Given the description of an element on the screen output the (x, y) to click on. 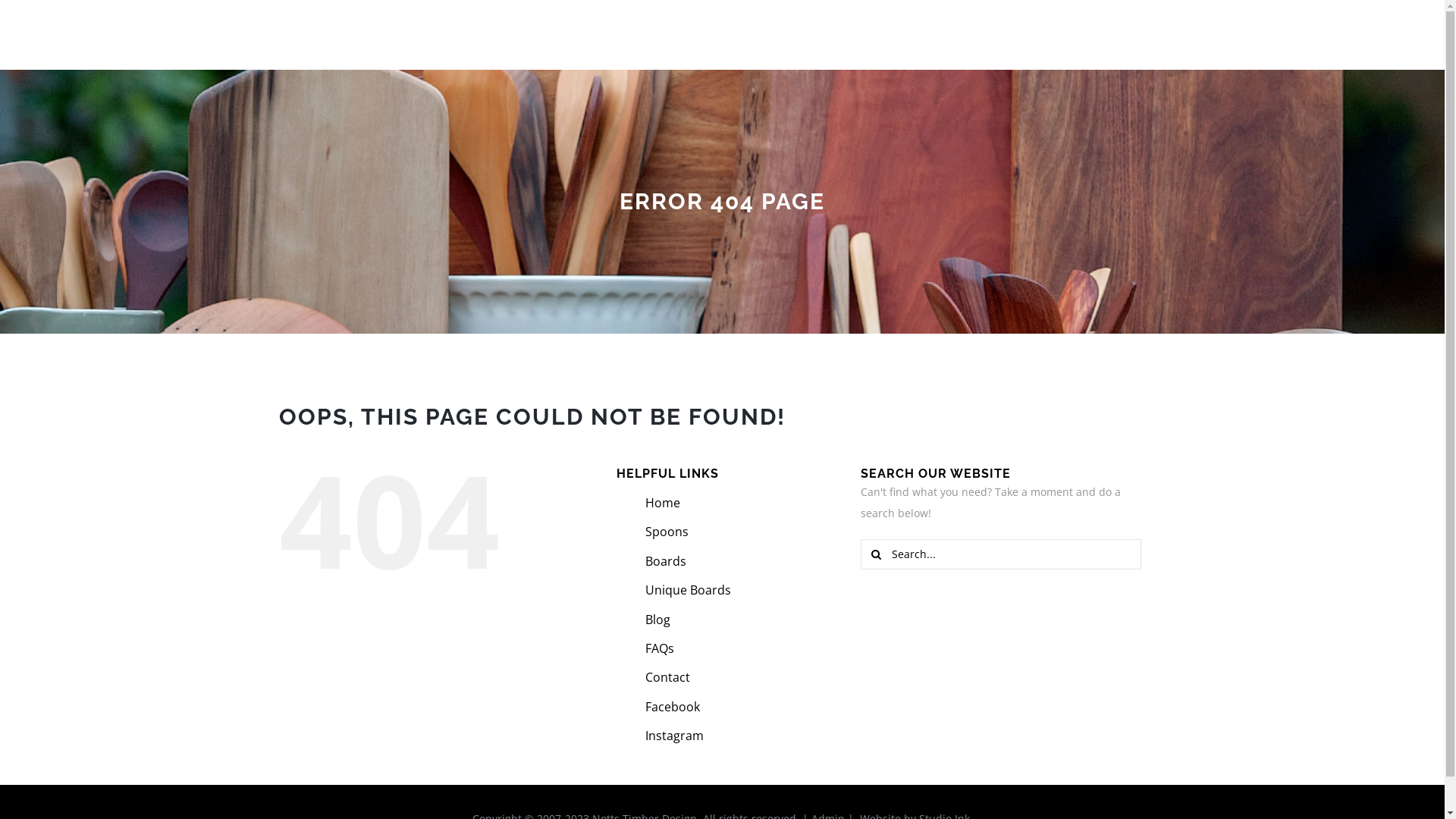
Spoons Element type: text (666, 531)
Blog Element type: text (921, 31)
Unique Boards Element type: text (688, 589)
Contact Element type: text (667, 676)
Boards Element type: text (665, 560)
FAQs Element type: text (967, 31)
Unique Boards Element type: text (850, 31)
Home Element type: text (662, 502)
Facebook Element type: text (672, 706)
FAQs Element type: text (659, 648)
Blog Element type: text (657, 619)
Contact Element type: text (1022, 31)
Boards Element type: text (765, 31)
Spoons Element type: text (701, 31)
Home Element type: text (646, 31)
Instagram Element type: text (674, 735)
